Given the description of an element on the screen output the (x, y) to click on. 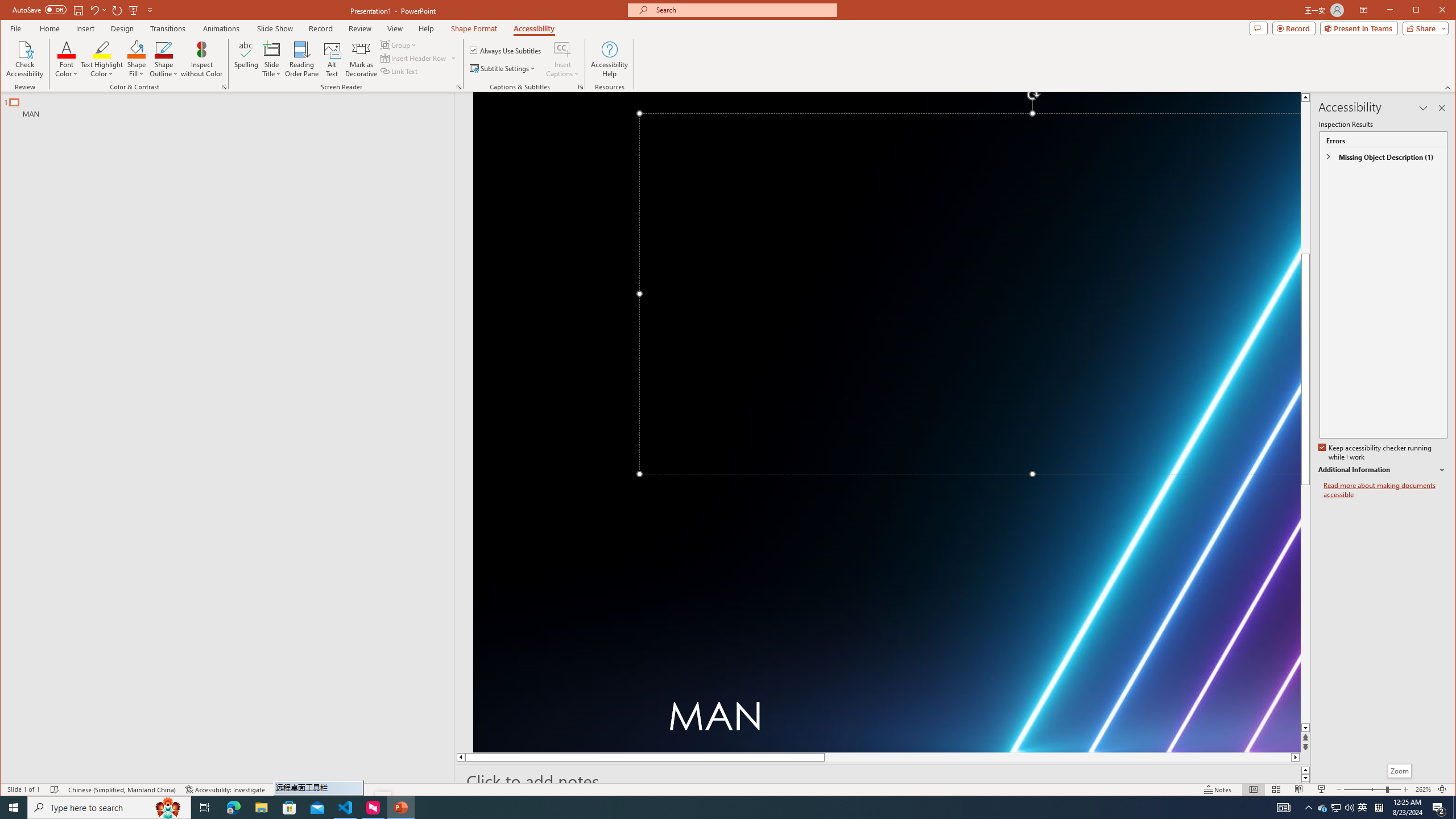
Transitions (167, 28)
Always Use Subtitles (505, 49)
Line up (1305, 96)
Insert Header Row (418, 57)
Spelling... (246, 59)
Read more about making documents accessible (1385, 489)
Screen Reader (458, 86)
Start (13, 807)
Slide Title (271, 48)
Zoom In (1405, 789)
View (395, 28)
Captions & Subtitles (580, 86)
Neon laser lights aligned to form a triangle (886, 421)
